Given the description of an element on the screen output the (x, y) to click on. 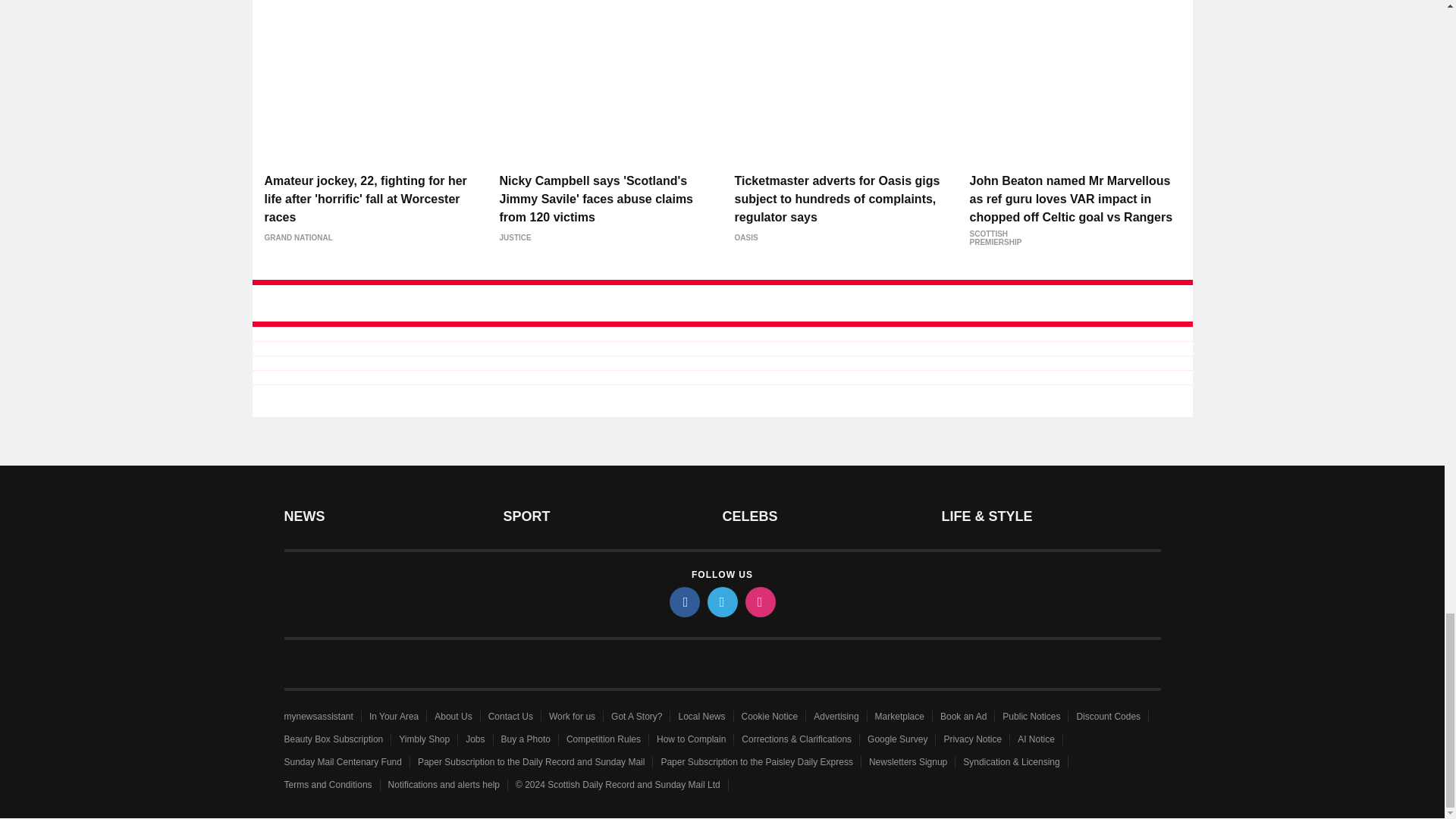
facebook (683, 602)
twitter (721, 602)
instagram (759, 602)
